Given the description of an element on the screen output the (x, y) to click on. 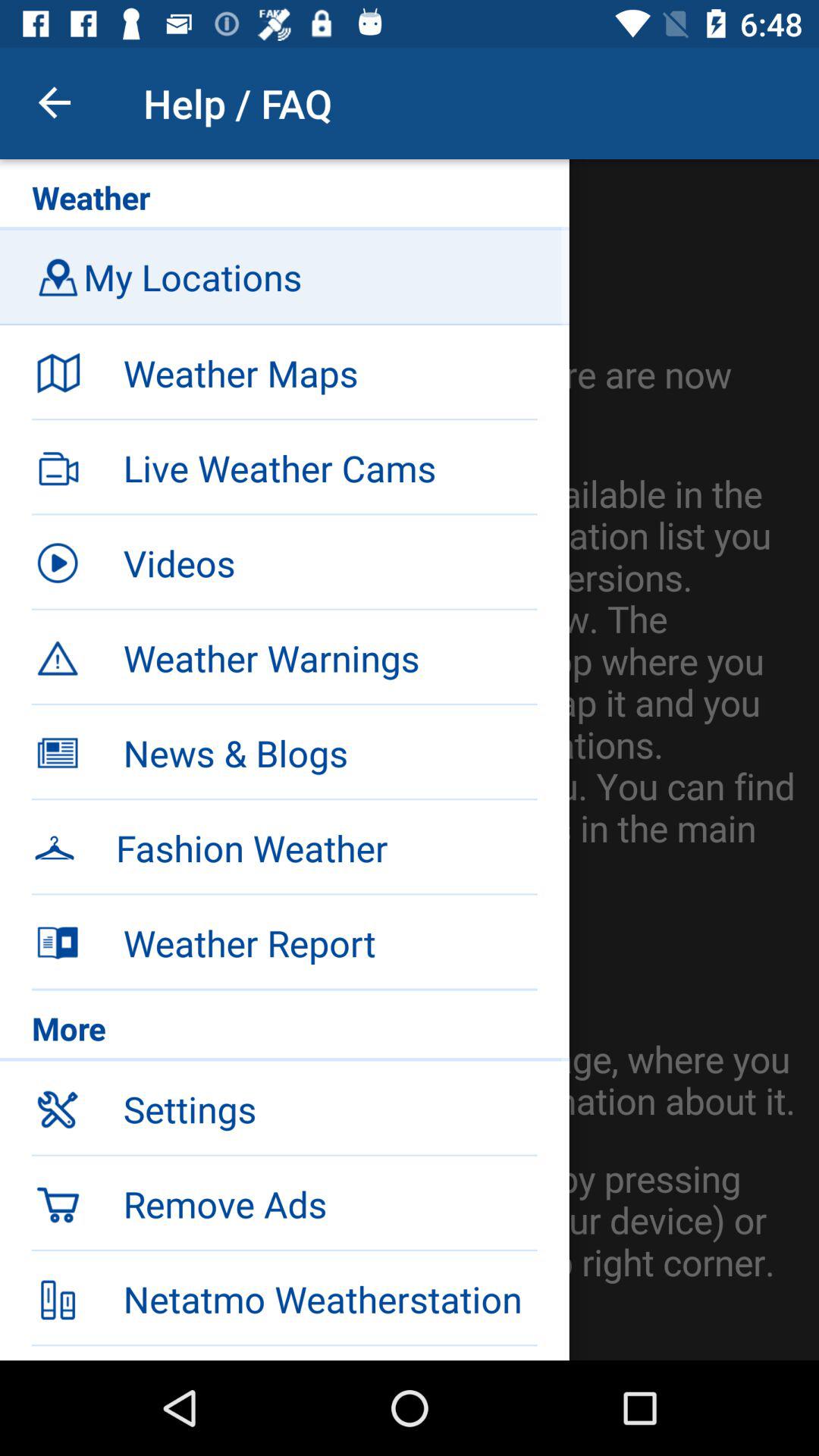
swipe until weather warnings item (330, 657)
